Given the description of an element on the screen output the (x, y) to click on. 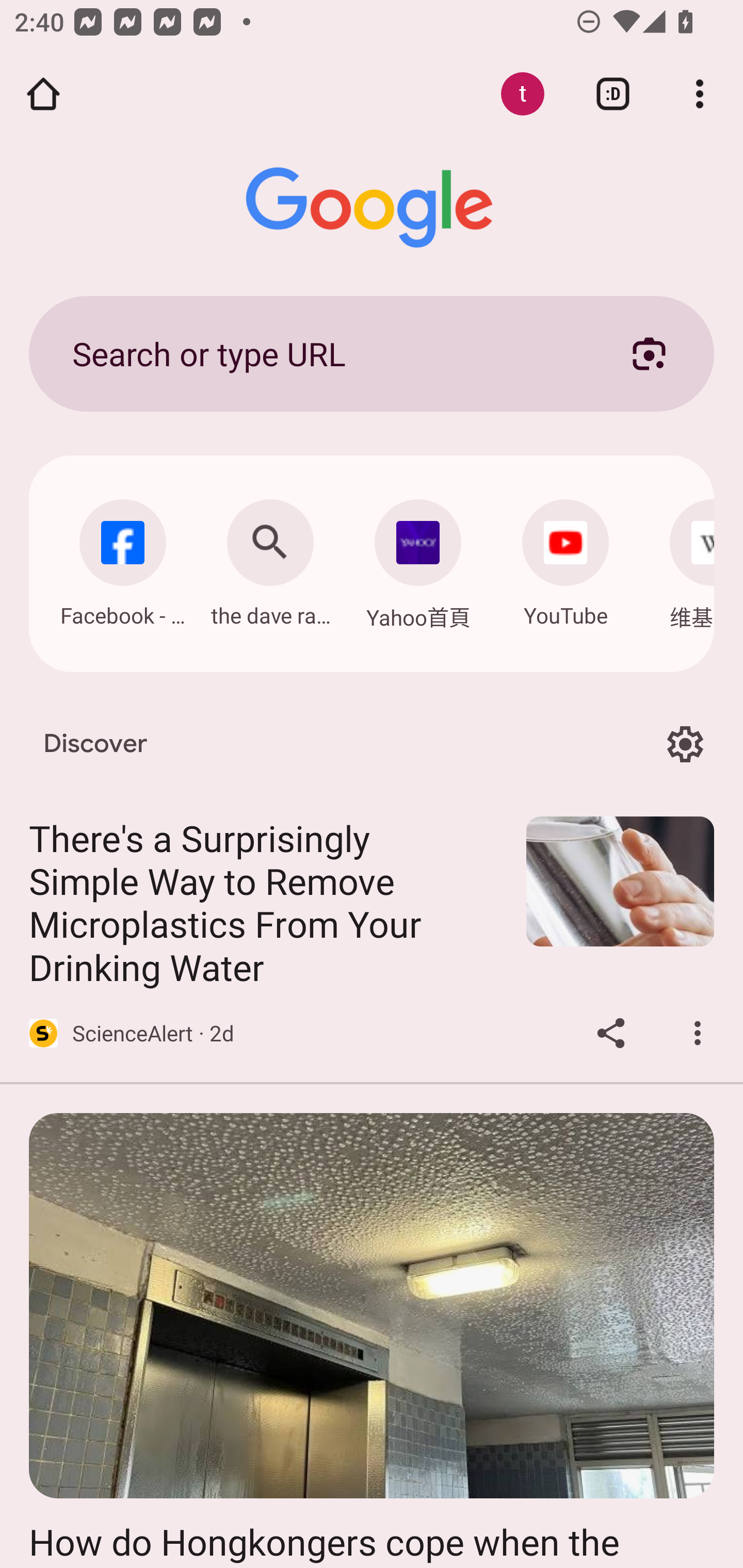
Open the home page (43, 93)
Switch or close tabs (612, 93)
Customize and control Google Chrome (699, 93)
Search or type URL (327, 353)
Search with your camera using Google Lens (648, 353)
Search: the dave ramsey show the dave ramsey show (270, 558)
Navigate: Yahoo首頁: hk.mobi.yahoo.com Yahoo首頁 (417, 558)
Navigate: YouTube: m.youtube.com YouTube (565, 558)
Options for Discover (684, 743)
